Given the description of an element on the screen output the (x, y) to click on. 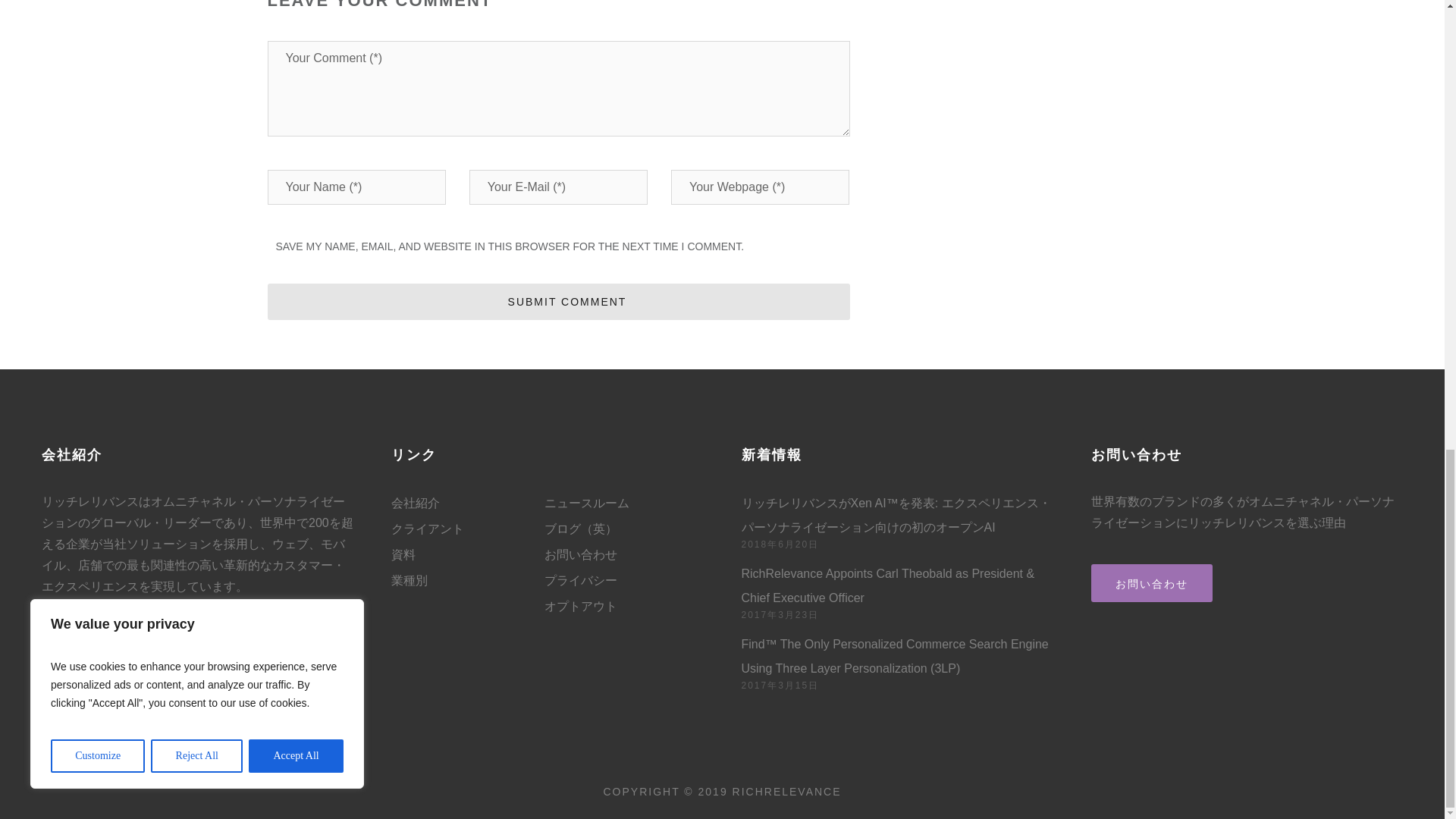
Submit Comment (557, 301)
